Given the description of an element on the screen output the (x, y) to click on. 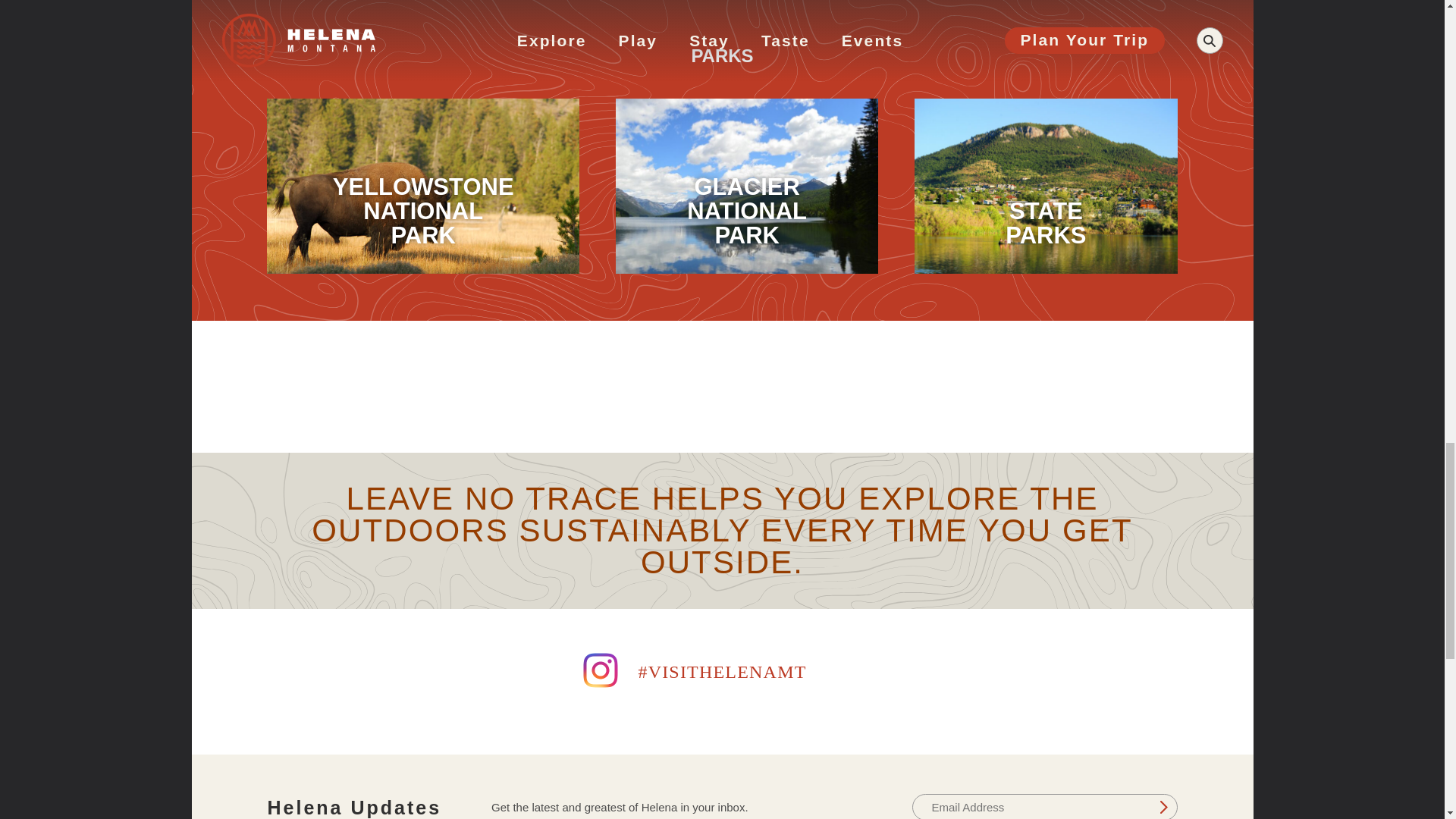
YELLOWSTONE NATIONAL PARK (422, 185)
STATE PARKS (1045, 185)
GLACIER NATIONAL PARK (746, 185)
Submit (1163, 806)
